Given the description of an element on the screen output the (x, y) to click on. 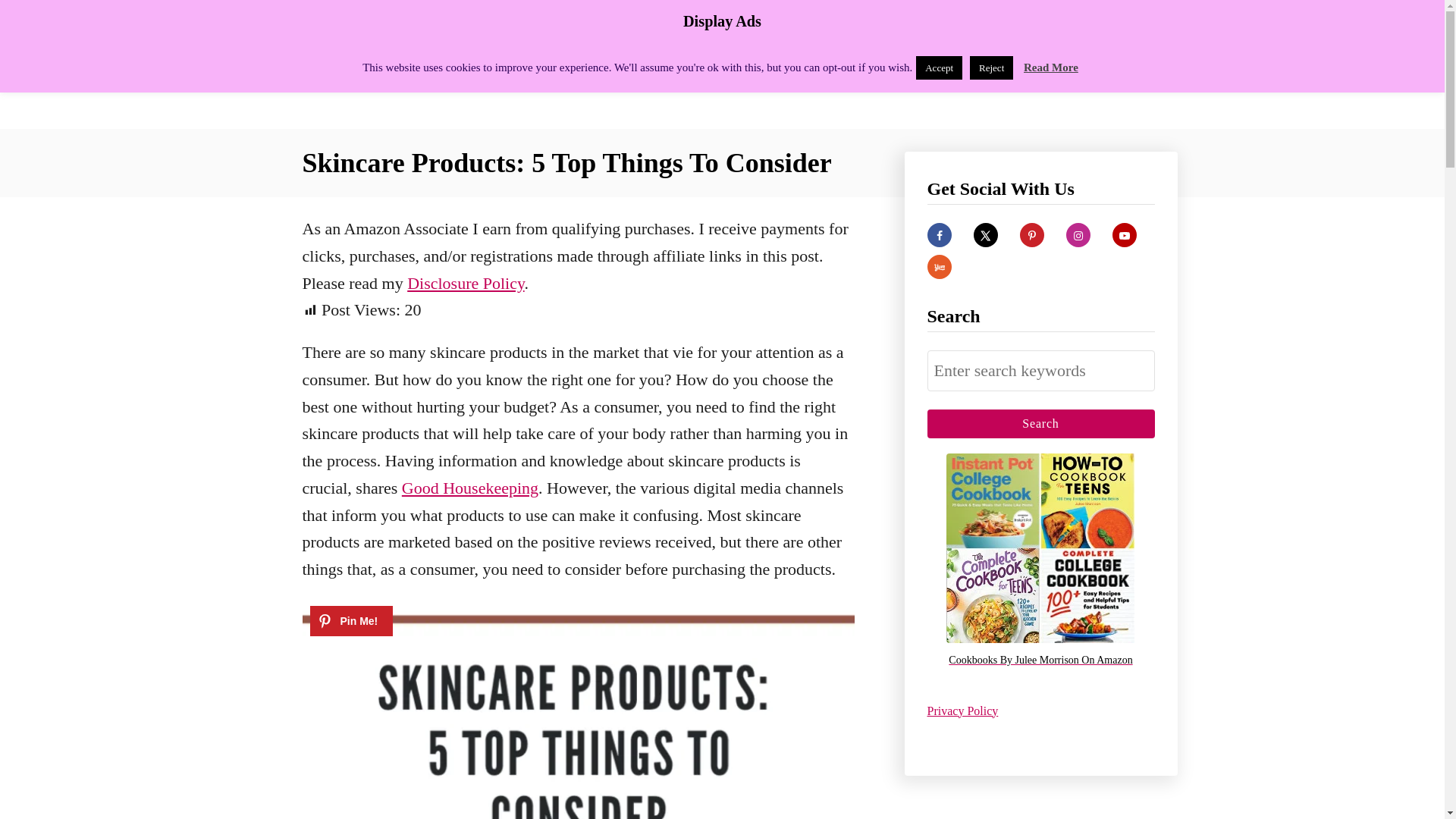
Reject (991, 67)
Accept (938, 67)
Follow on X (985, 234)
Follow on Pinterest (1031, 234)
Mommy's Memorandum (433, 64)
Read More (1050, 67)
Good Housekeeping (469, 487)
Skincare Products Composition on Gray Background (577, 708)
Privacy Policy (961, 709)
Follow on Facebook (938, 234)
Search for: (1040, 370)
Disclosure Policy (465, 281)
Search (1040, 423)
Follow on Yummly (938, 266)
Follow on YouTube (1124, 234)
